Given the description of an element on the screen output the (x, y) to click on. 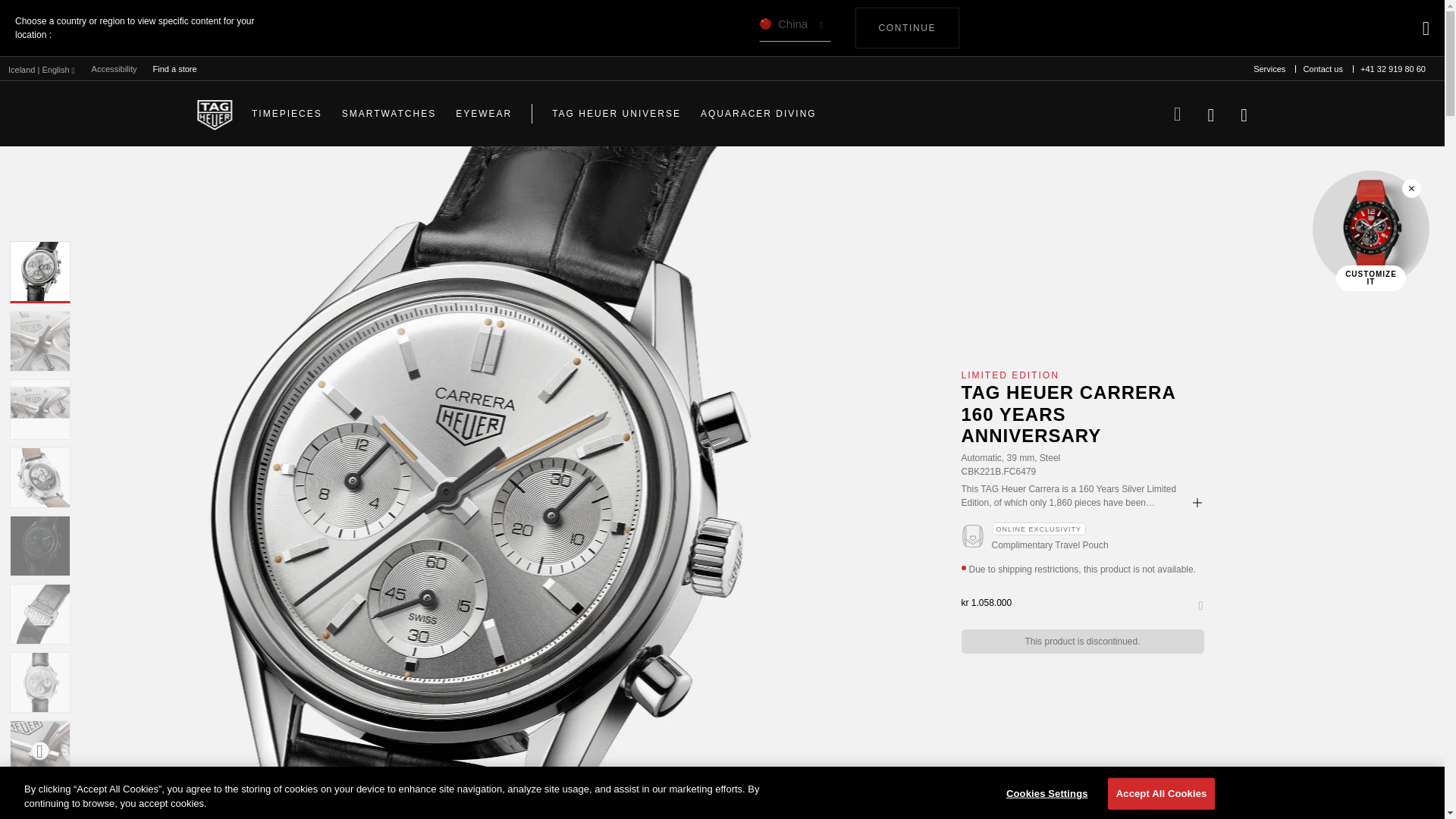
Services (1269, 68)
TIMEPIECES (286, 113)
Find a store (175, 68)
Contact us (1323, 68)
China (794, 27)
Accessibility (113, 68)
Read more about product description (1197, 502)
